Given the description of an element on the screen output the (x, y) to click on. 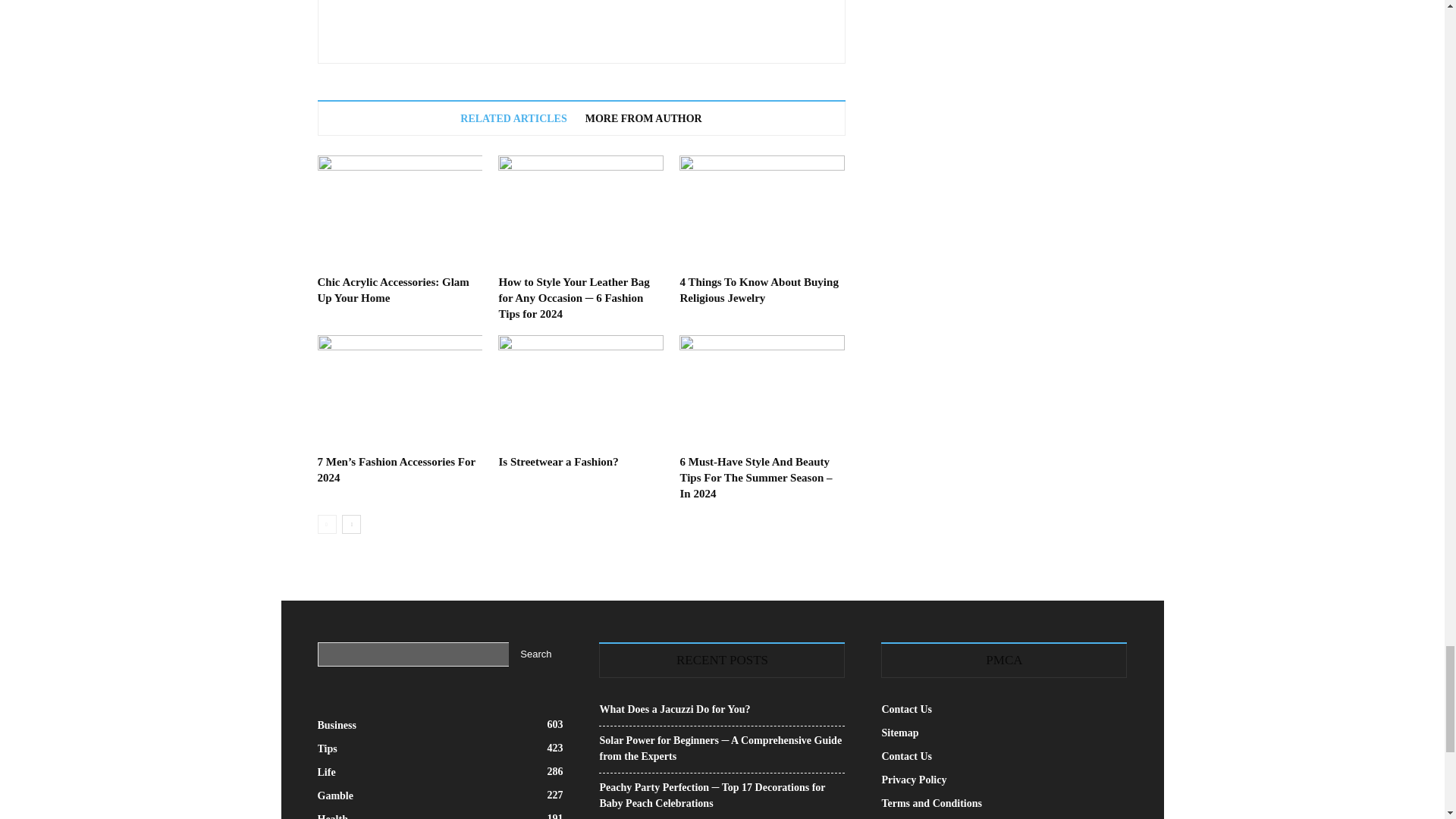
4 Things To Know About Buying Religious Jewelry (761, 212)
Search (535, 654)
Chic Acrylic Accessories: Glam Up Your Home (392, 289)
4 Things To Know About Buying Religious Jewelry (758, 289)
Chic Acrylic Accessories: Glam Up Your Home (399, 212)
